Given the description of an element on the screen output the (x, y) to click on. 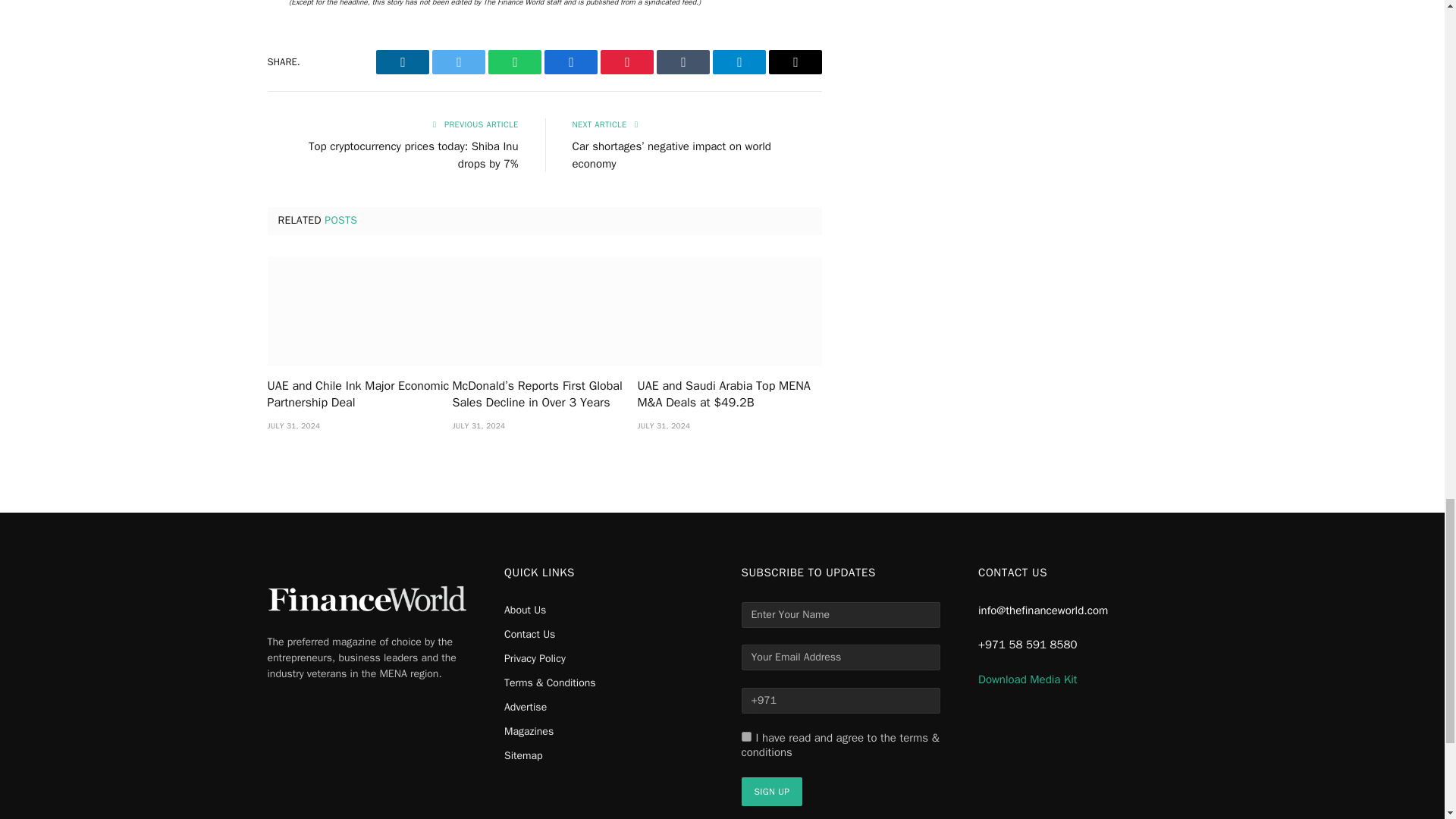
1 (746, 737)
Sign up (772, 791)
